Given the description of an element on the screen output the (x, y) to click on. 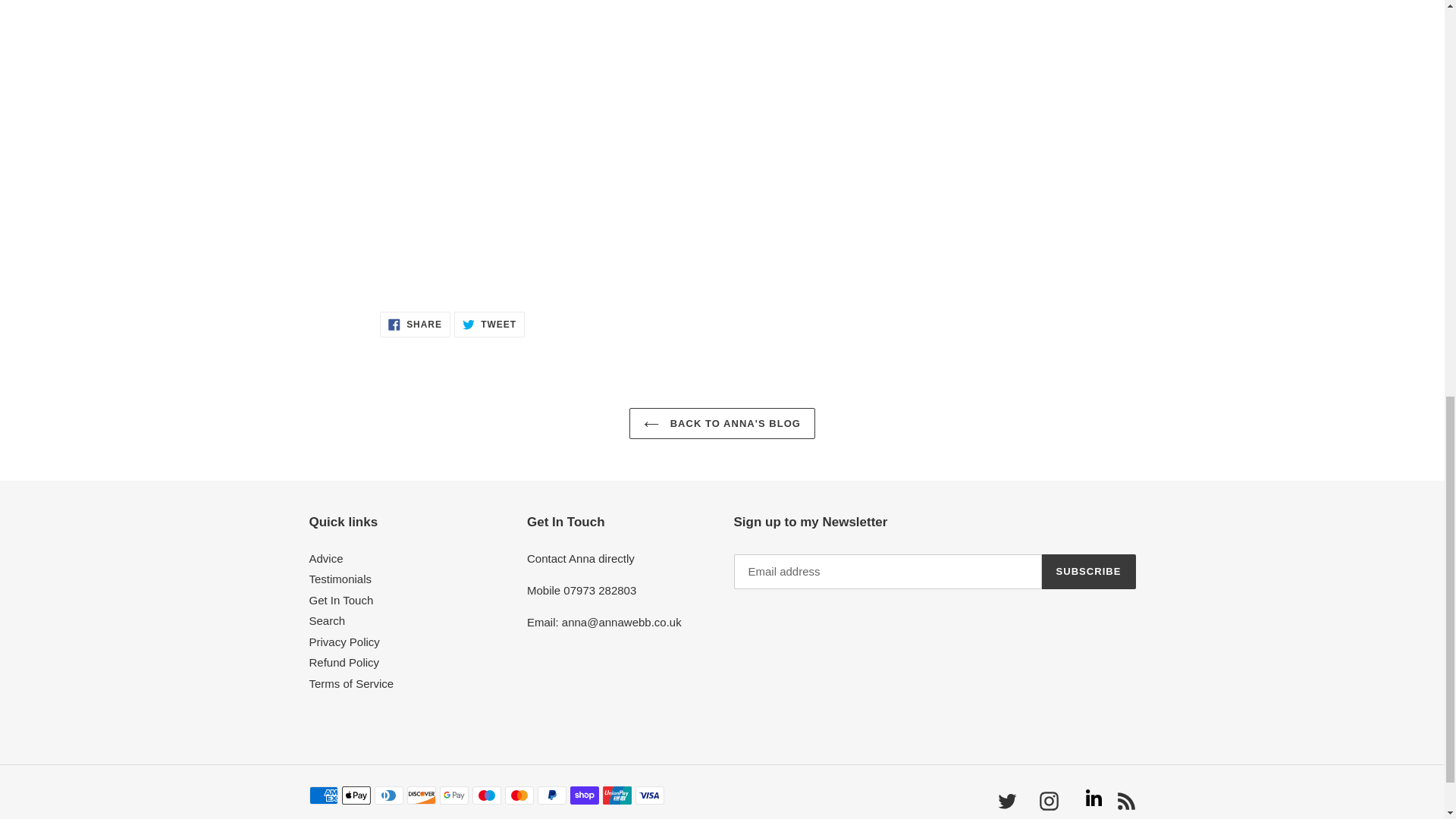
BACK TO ANNA'S BLOG (721, 423)
